Given the description of an element on the screen output the (x, y) to click on. 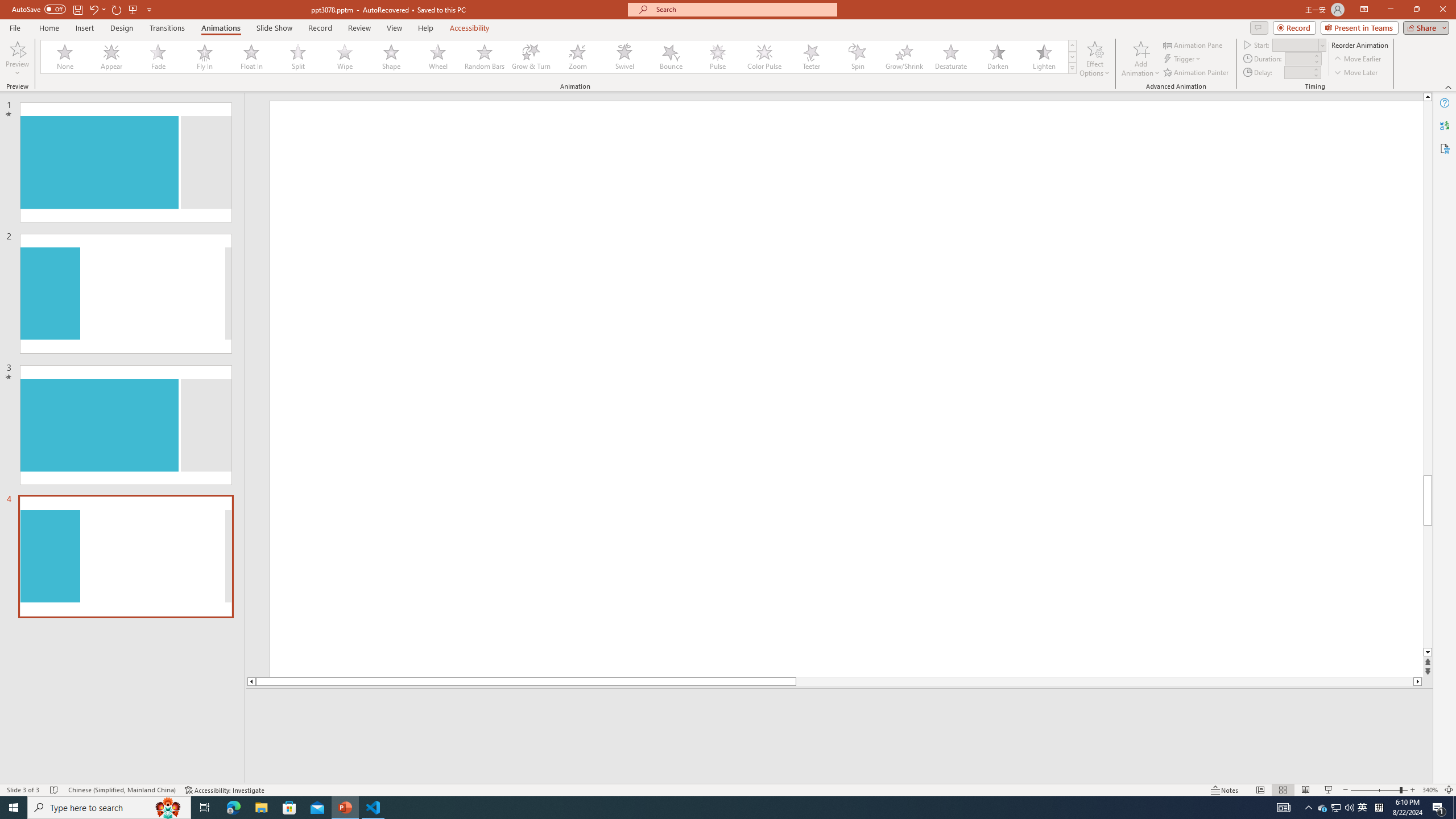
Open (1321, 44)
Wipe (344, 56)
Page up (1427, 288)
Lighten (1043, 56)
Move Later (1355, 72)
Insert (83, 28)
Wheel (437, 56)
Animation Styles (1071, 67)
Effect Options (1094, 58)
Fade (158, 56)
Slide Show (273, 28)
Row Down (1071, 56)
None (65, 56)
Reading View (1305, 790)
